Given the description of an element on the screen output the (x, y) to click on. 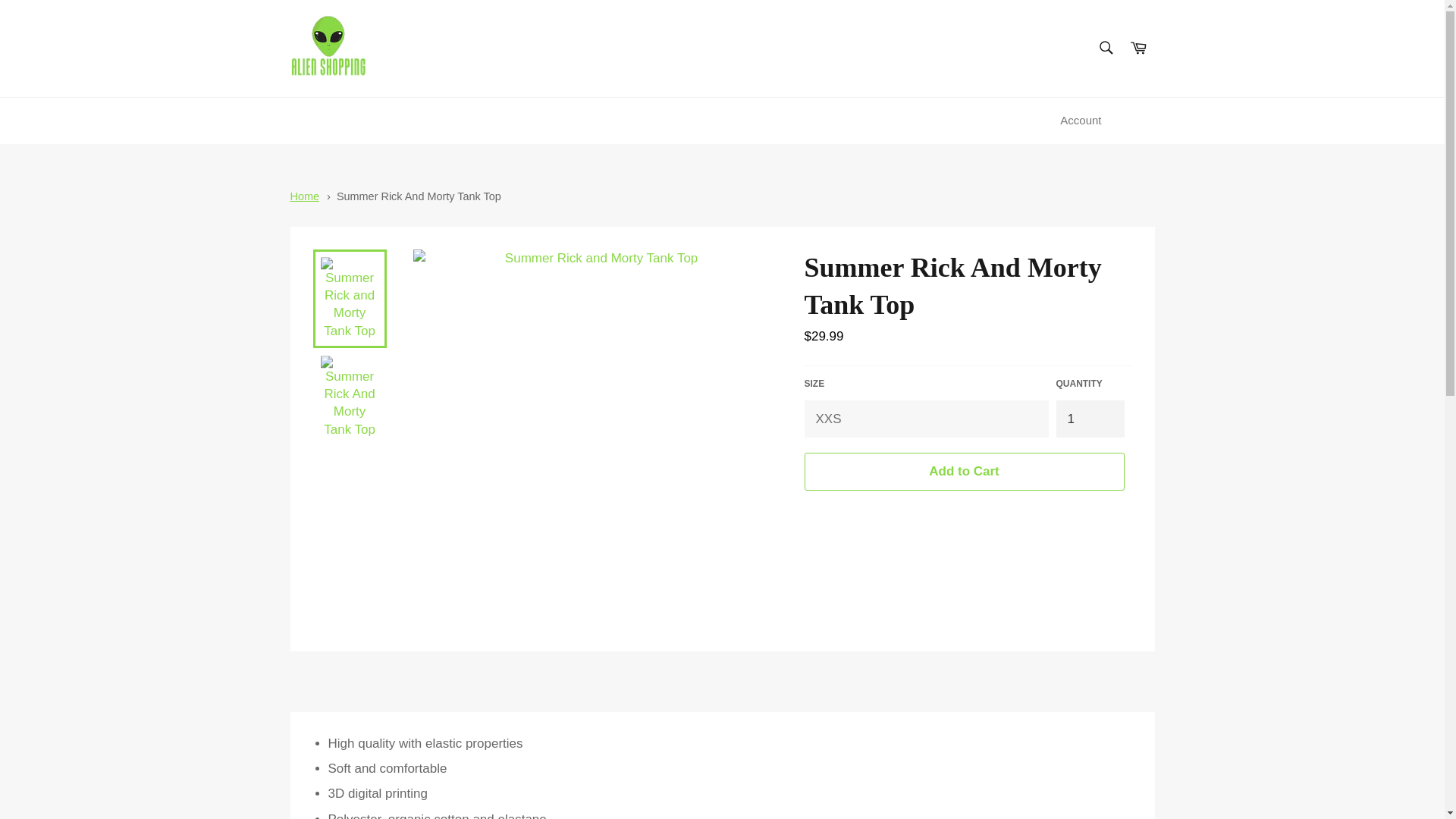
1 (1089, 418)
Home (303, 196)
Home (303, 196)
Account (1080, 120)
Search (1104, 47)
Add to Cart (963, 470)
Summer Rick And Morty Tank Top (418, 196)
Cart (1138, 48)
